Given the description of an element on the screen output the (x, y) to click on. 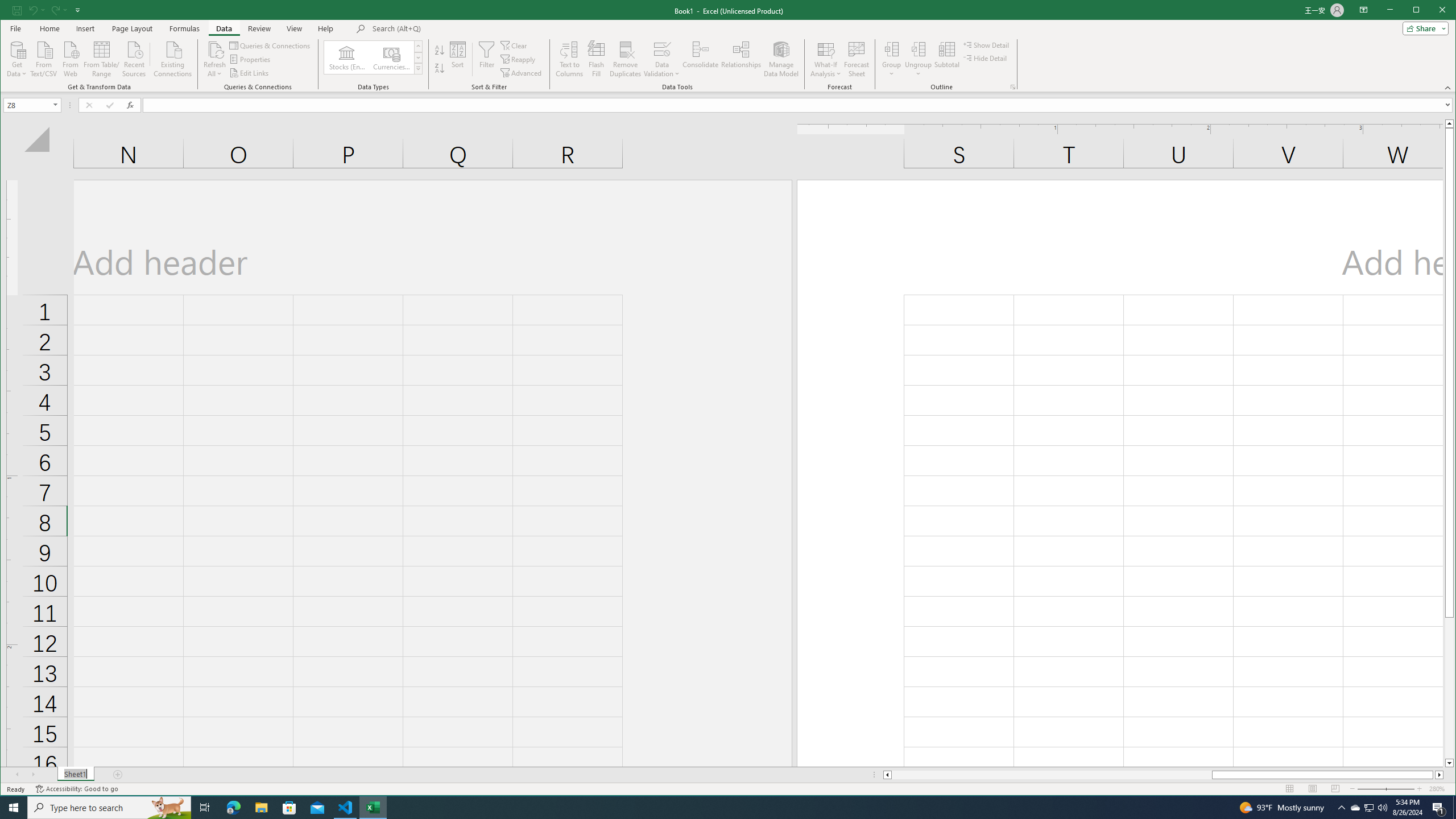
Line down (1449, 763)
Data (223, 28)
Page Break Preview (1334, 788)
Clear (514, 45)
Group and Outline Settings (1013, 86)
Data Types (417, 68)
AutomationID: ConvertToLinkedEntity (373, 57)
Quick Access Toolbar (46, 9)
Open (55, 105)
Help (325, 28)
Data Validation... (661, 59)
Sheet Tab (75, 774)
Page down (1449, 687)
Column left (886, 774)
